Given the description of an element on the screen output the (x, y) to click on. 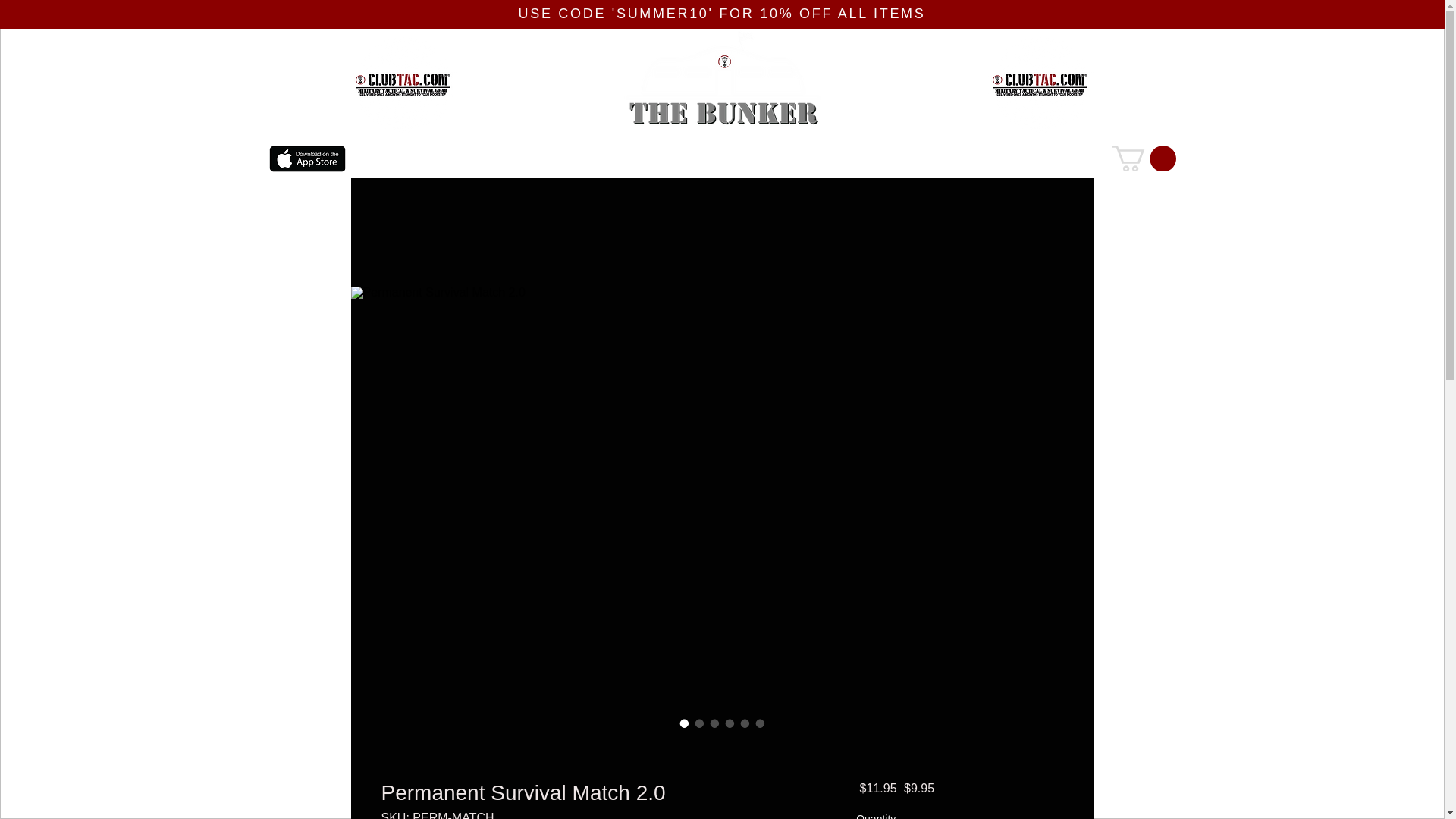
SHOP ALL (500, 159)
HOME (397, 159)
SHOP BY CATEGORY (635, 159)
BRAND AMBASSADOR (1007, 159)
CONTACT (868, 159)
ABOUT (764, 159)
